Given the description of an element on the screen output the (x, y) to click on. 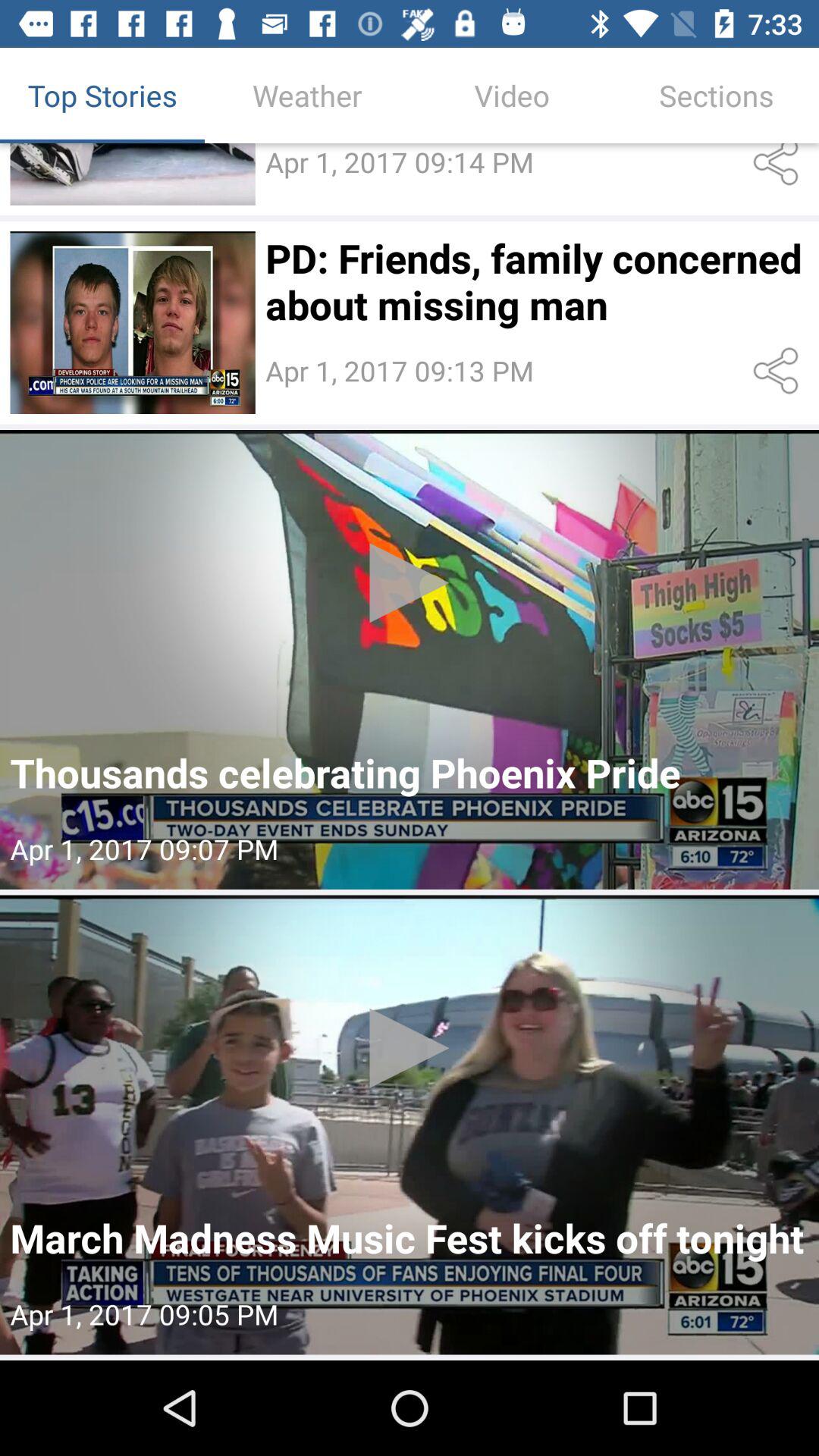
select to play video (132, 174)
